Given the description of an element on the screen output the (x, y) to click on. 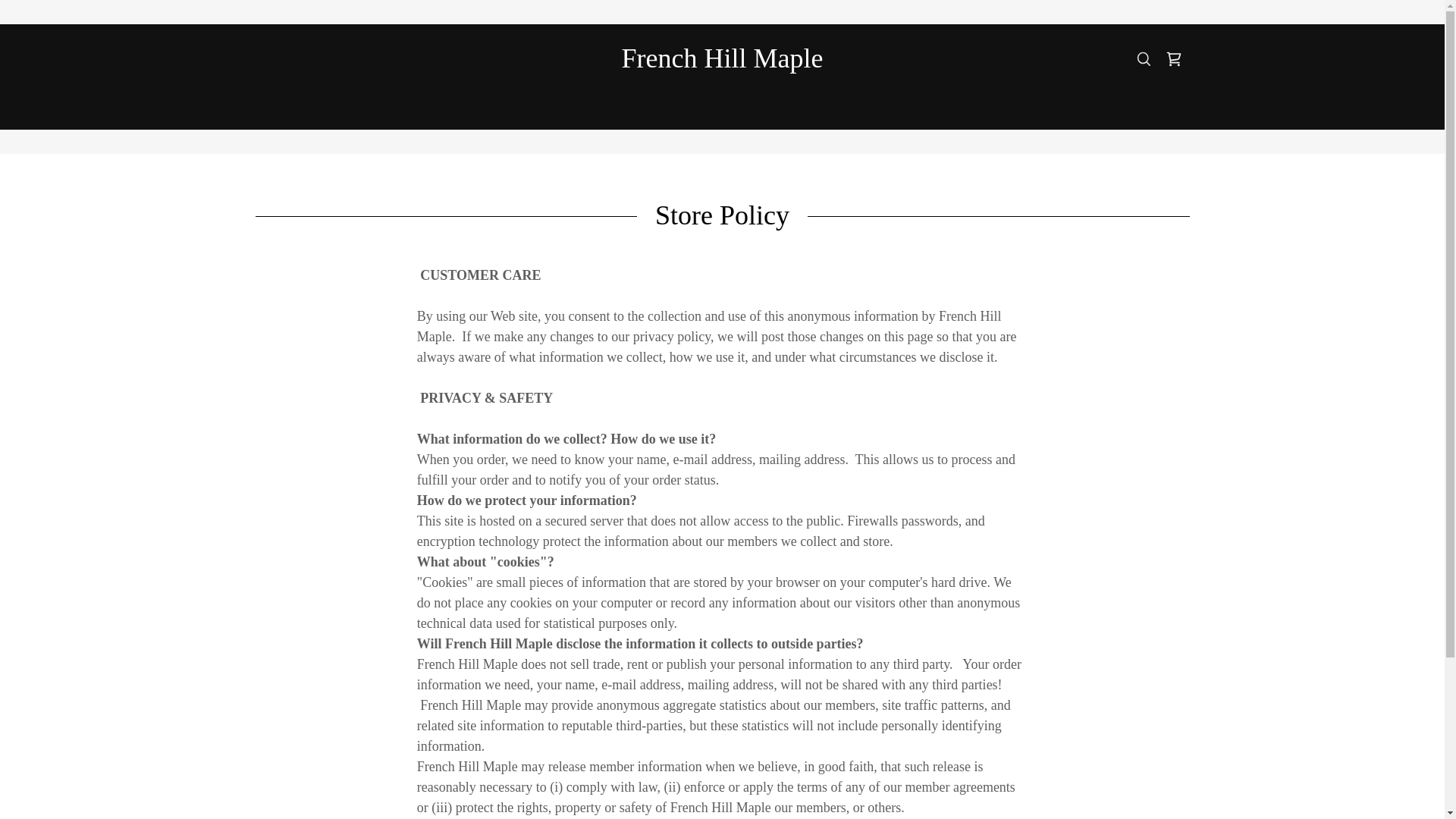
French Hill Maple (722, 62)
French Hill Maple (722, 62)
